Given the description of an element on the screen output the (x, y) to click on. 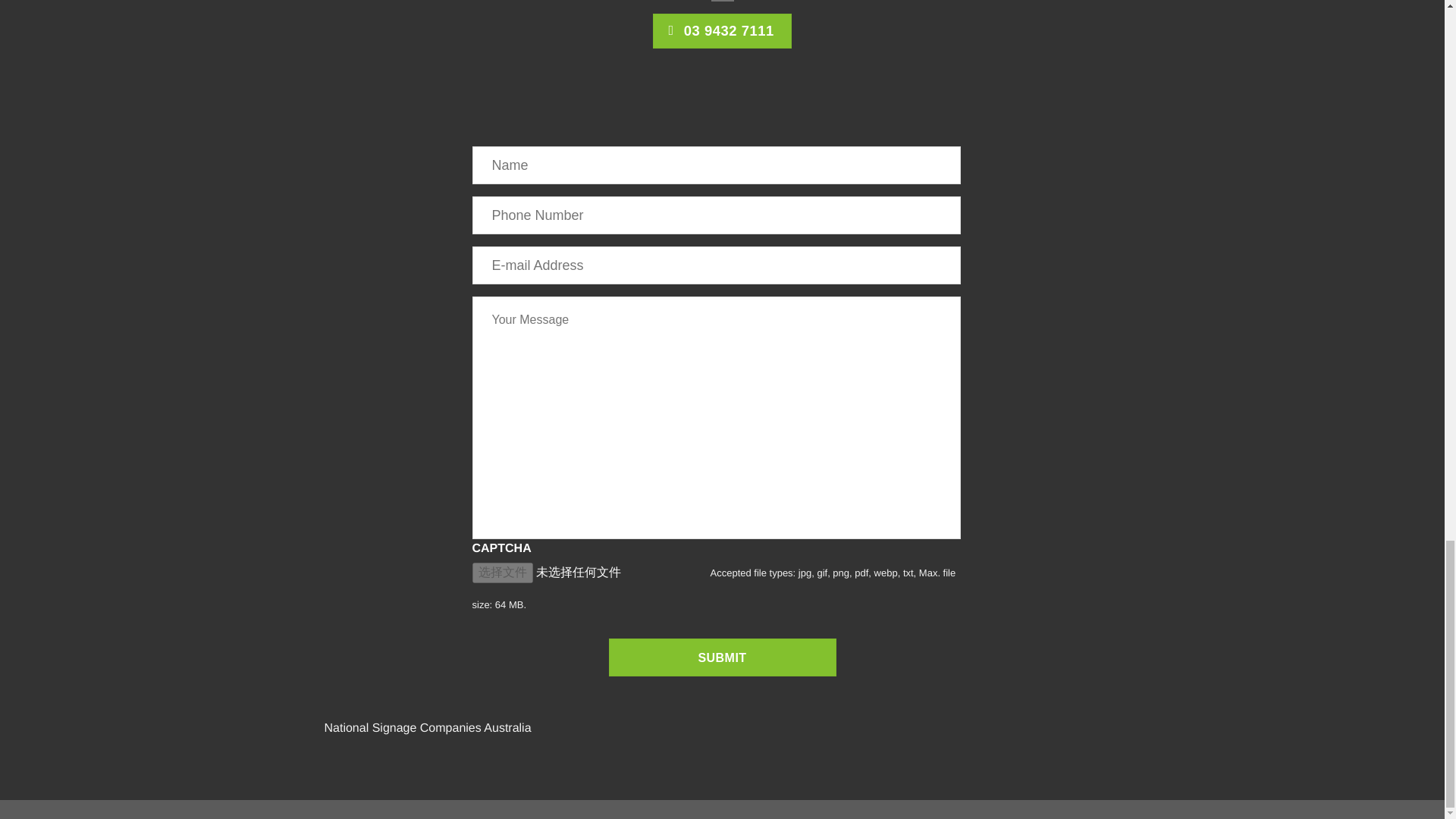
Submit (721, 657)
